Given the description of an element on the screen output the (x, y) to click on. 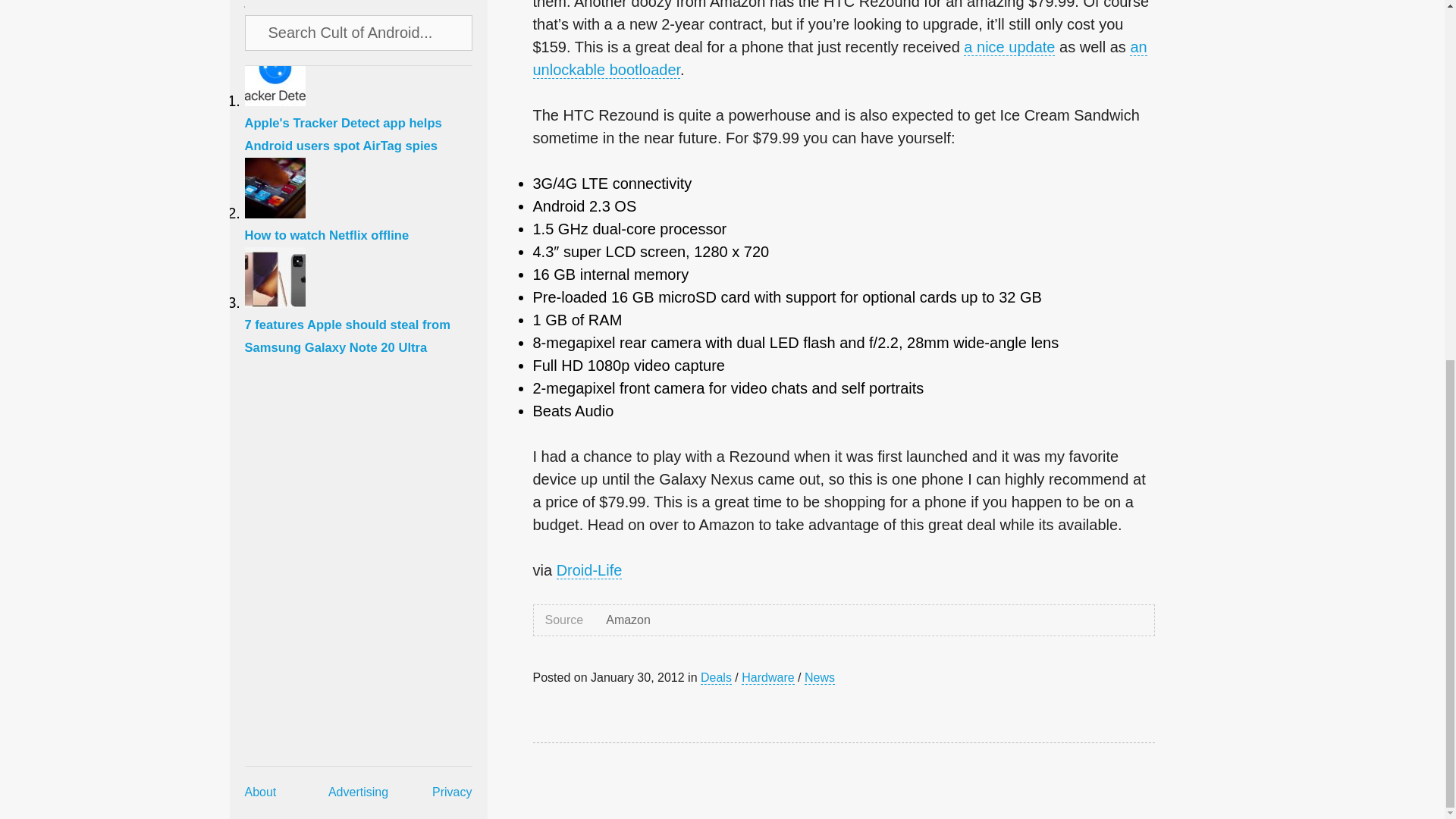
Deals (716, 677)
an unlockable bootloader (839, 58)
Advertising (358, 153)
About (260, 153)
Privacy (451, 153)
Hardware (767, 677)
Amazon (627, 619)
Droid-Life (589, 570)
News (819, 677)
a nice update (1008, 47)
